Given the description of an element on the screen output the (x, y) to click on. 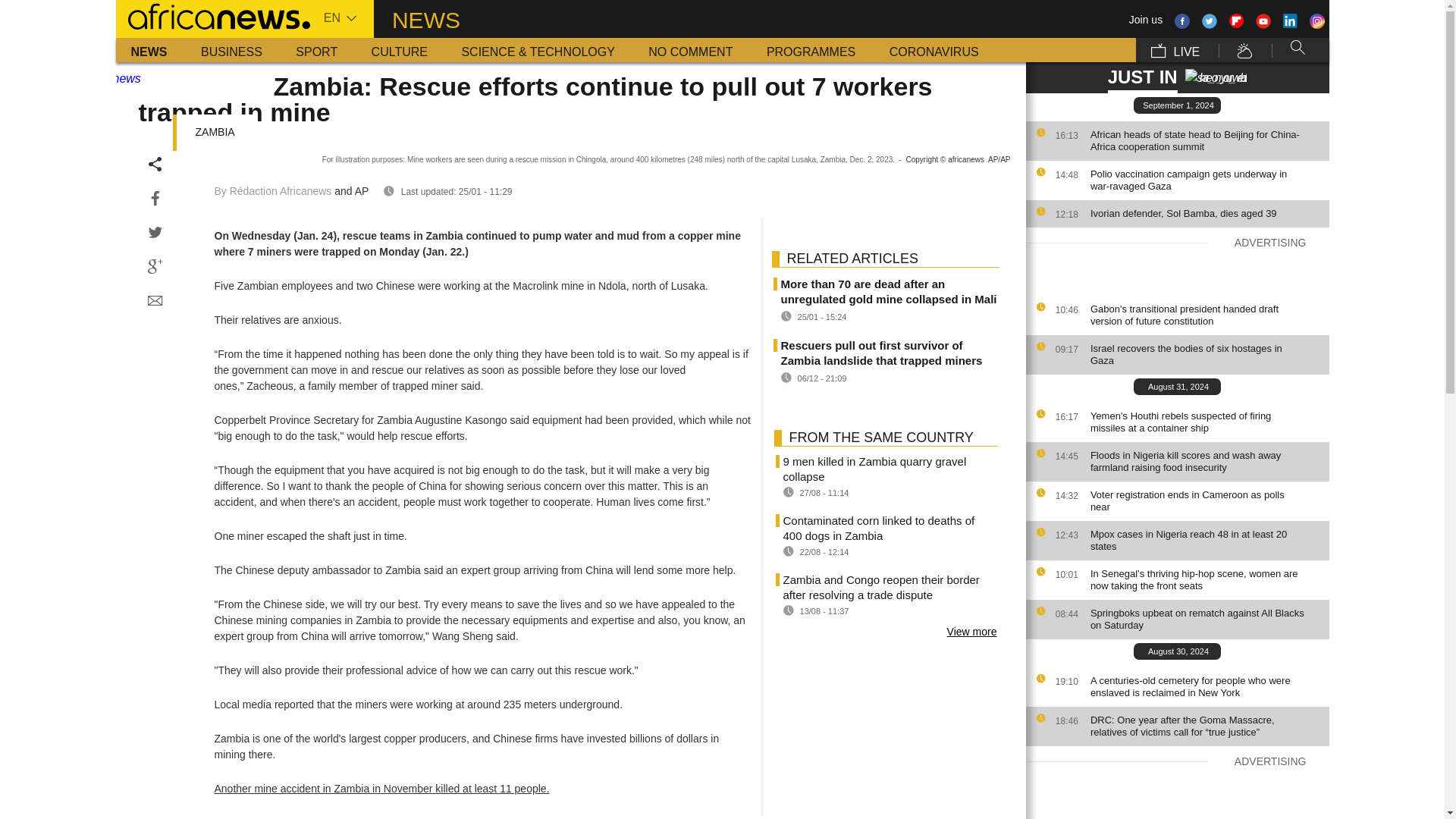
Ivorian defender, Sol Bamba, dies aged 39 (1206, 214)
Business (232, 49)
BUSINESS (232, 49)
Israel recovers the bodies of six hostages in Gaza (1206, 354)
Programmes (810, 49)
PROGRAMMES (810, 49)
Polio vaccination campaign gets underway in war-ravaged Gaza (1206, 180)
CORONAVIRUS (934, 49)
CULTURE (399, 49)
